Given the description of an element on the screen output the (x, y) to click on. 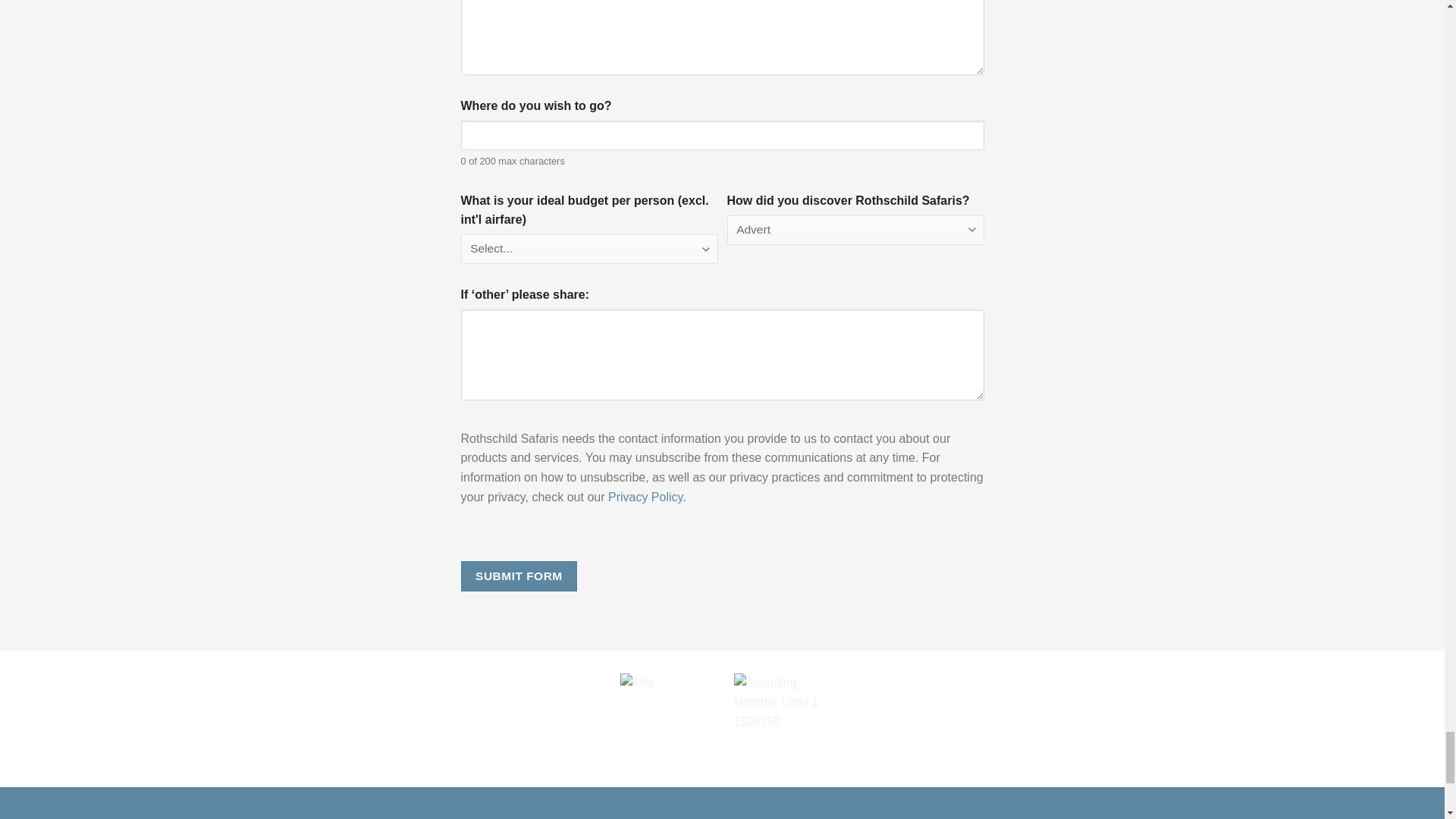
Submit Form (519, 575)
